Given the description of an element on the screen output the (x, y) to click on. 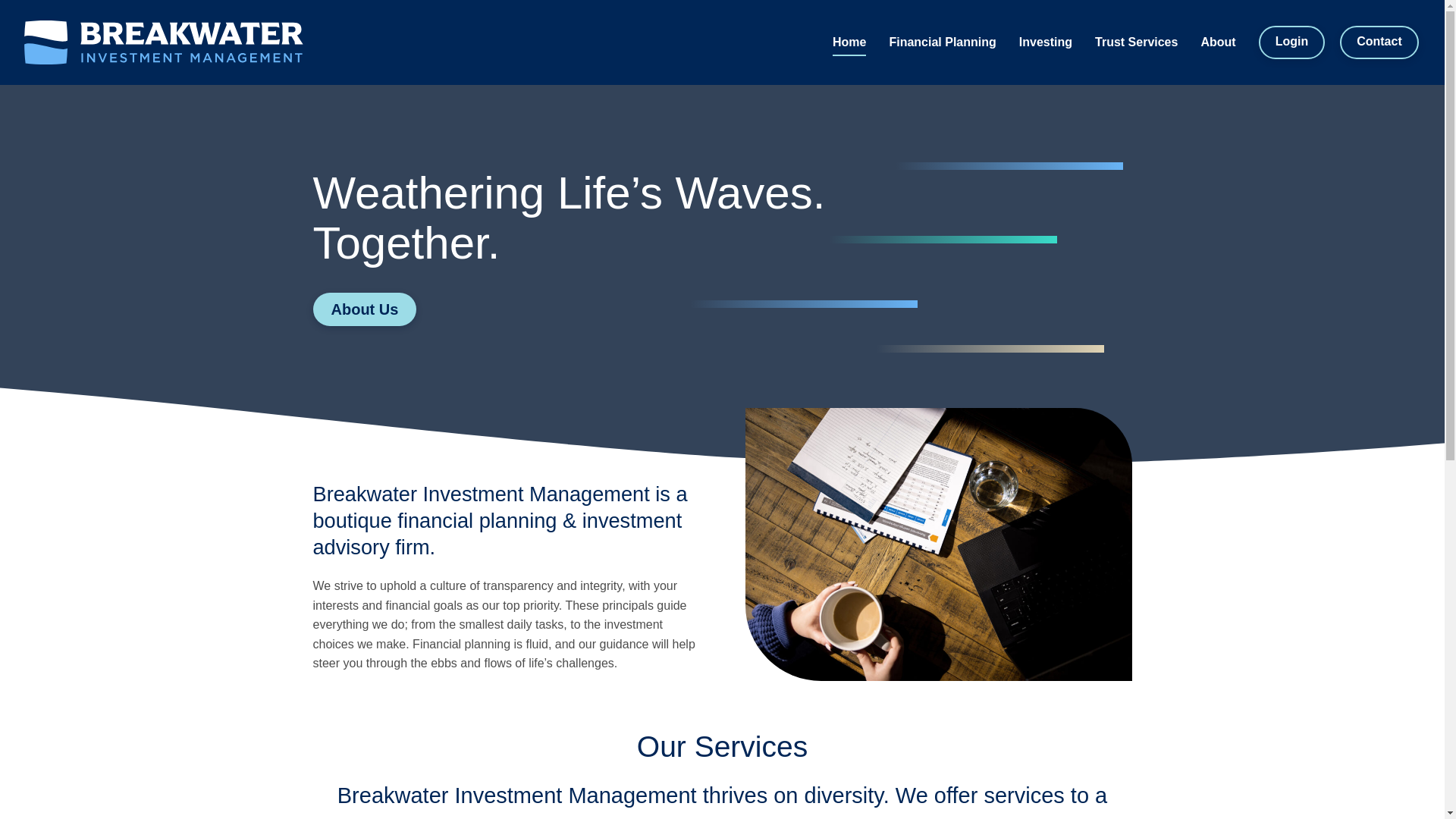
Financial Planning (941, 42)
About (1216, 42)
Trust Services (1135, 42)
Home (849, 42)
About Us (364, 308)
Investing (1045, 42)
Contact (1378, 41)
Login (1291, 41)
